Given the description of an element on the screen output the (x, y) to click on. 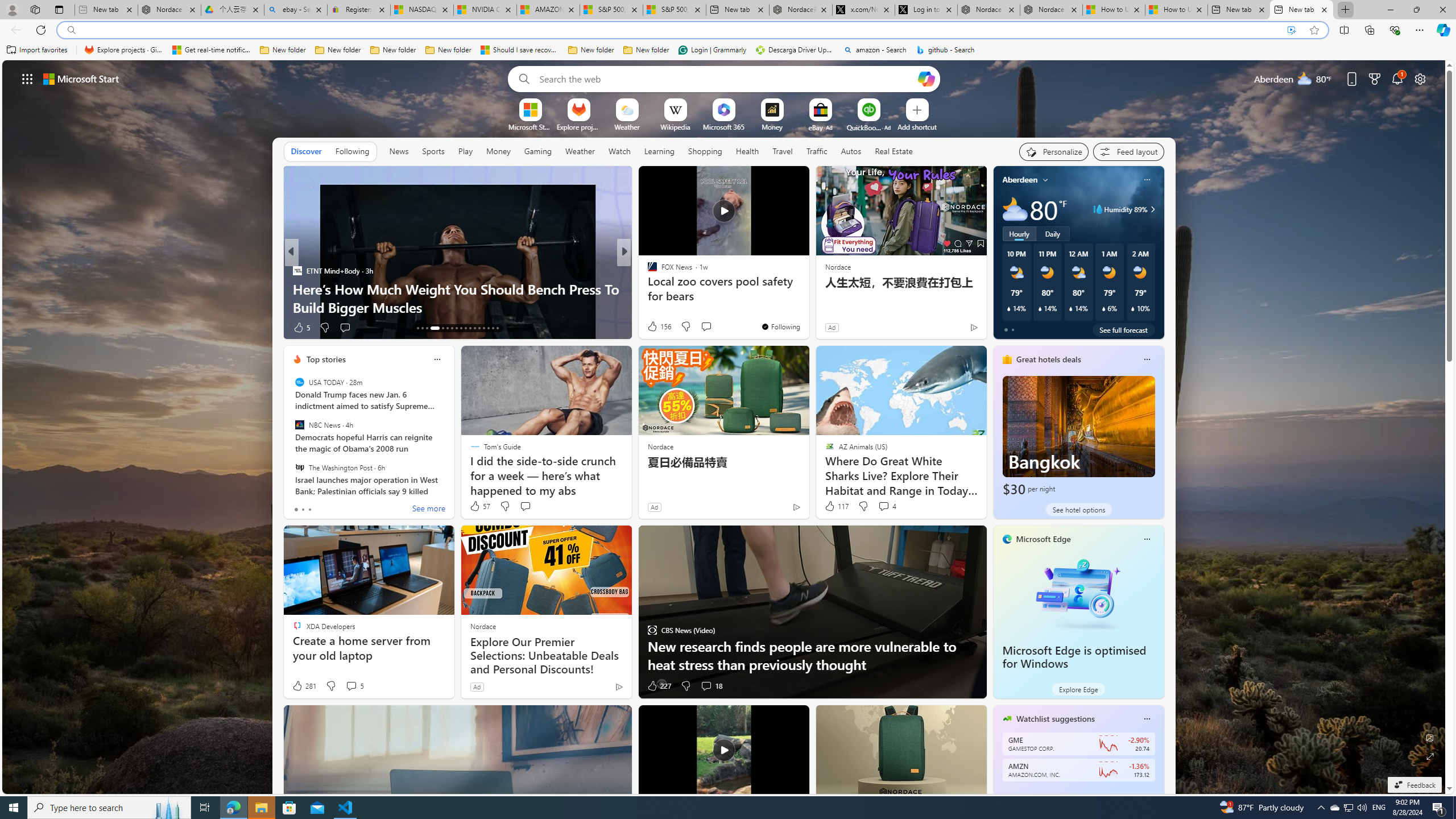
View comments 3 Comment (698, 327)
Edit Background (1430, 737)
Register: Create a personal eBay account (357, 9)
AutomationID: tab-13 (417, 328)
AutomationID: tab-21 (460, 328)
My location (1045, 179)
New folder (646, 49)
AutomationID: tab-19 (451, 328)
github - Search (945, 49)
